Given the description of an element on the screen output the (x, y) to click on. 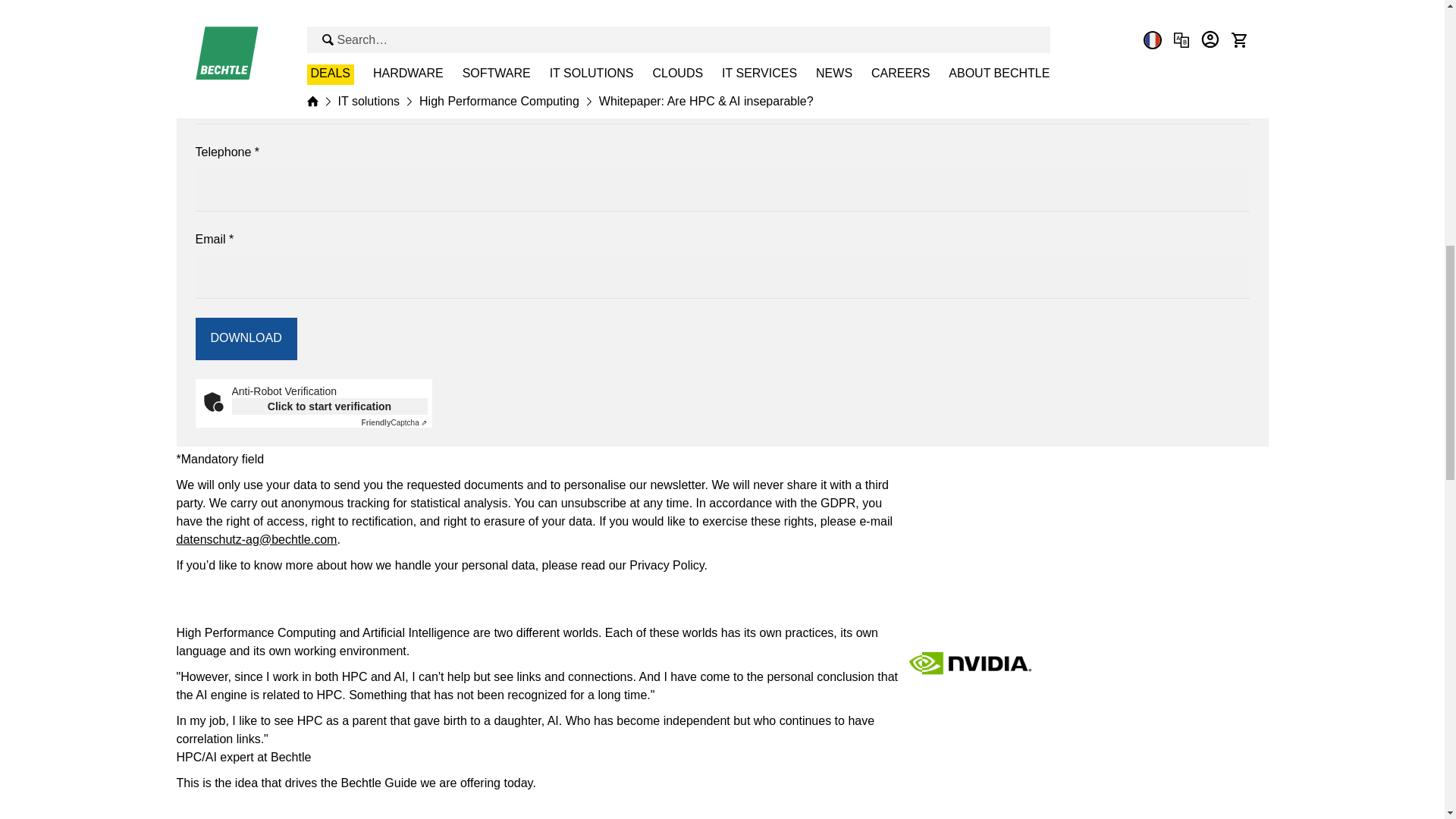
required (256, 151)
required (252, 63)
required (230, 237)
Download (246, 337)
